Given the description of an element on the screen output the (x, y) to click on. 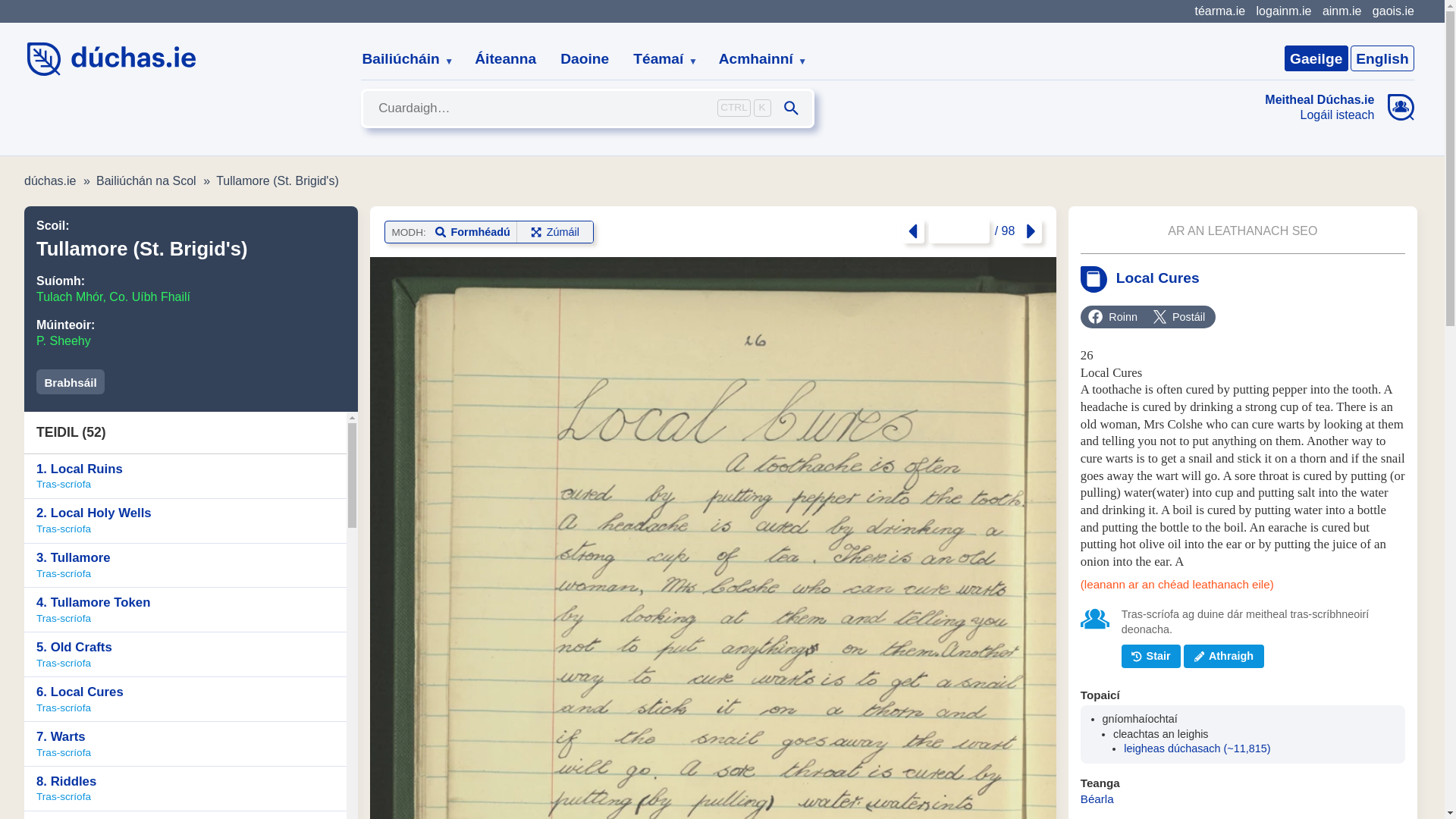
logainm.ie (1283, 11)
gaois.ie (1393, 11)
Gaeilge (1316, 58)
Daoine (584, 58)
P. Sheehy (63, 340)
ainm.ie (1341, 11)
English (1382, 58)
